Given the description of an element on the screen output the (x, y) to click on. 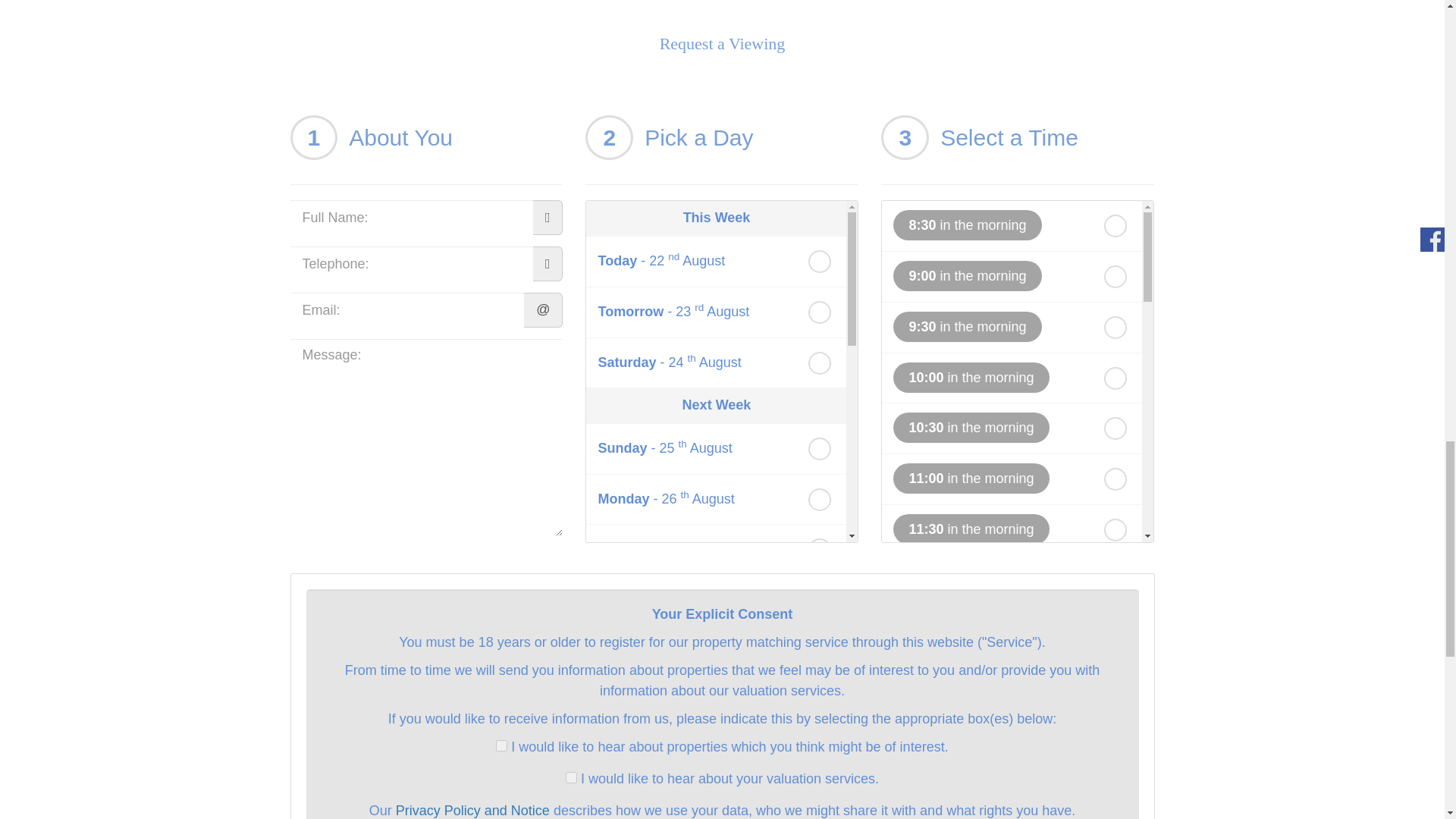
11:30 in the morning (970, 529)
12:00 in the afternoon (975, 579)
yes (501, 745)
11:00 in the morning (970, 478)
9:00 in the morning (967, 276)
12:30 in the afternoon (975, 630)
1:30 in the afternoon (971, 730)
8:30 in the morning (967, 224)
yes (571, 777)
